Given the description of an element on the screen output the (x, y) to click on. 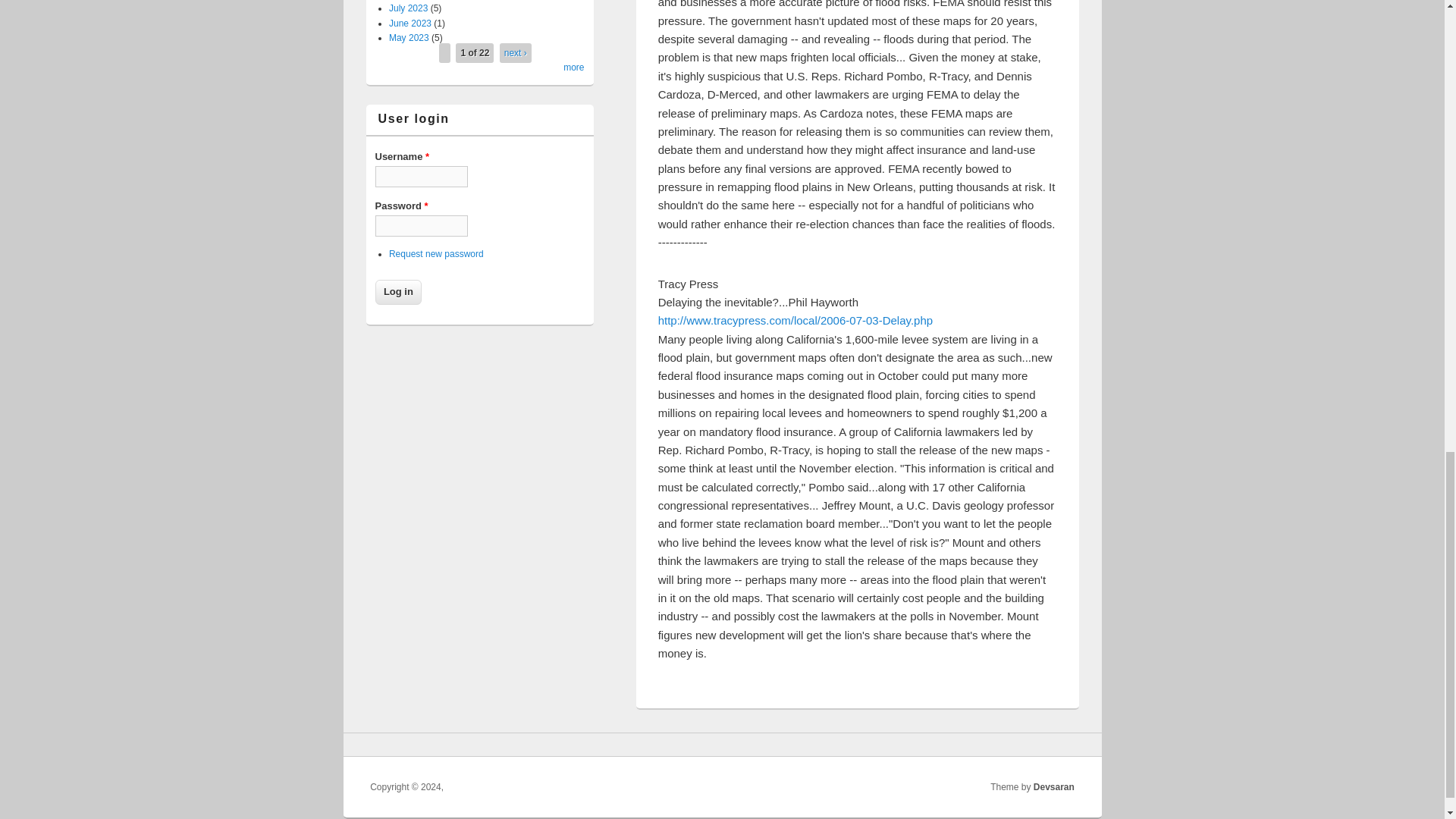
Log in (398, 291)
more (573, 67)
July 2023 (408, 8)
June 2023 (409, 22)
Devsaran (1053, 787)
Log in (398, 291)
Request new password via e-mail. (435, 253)
May 2023 (408, 37)
Go to next page (515, 52)
Request new password (435, 253)
